Given the description of an element on the screen output the (x, y) to click on. 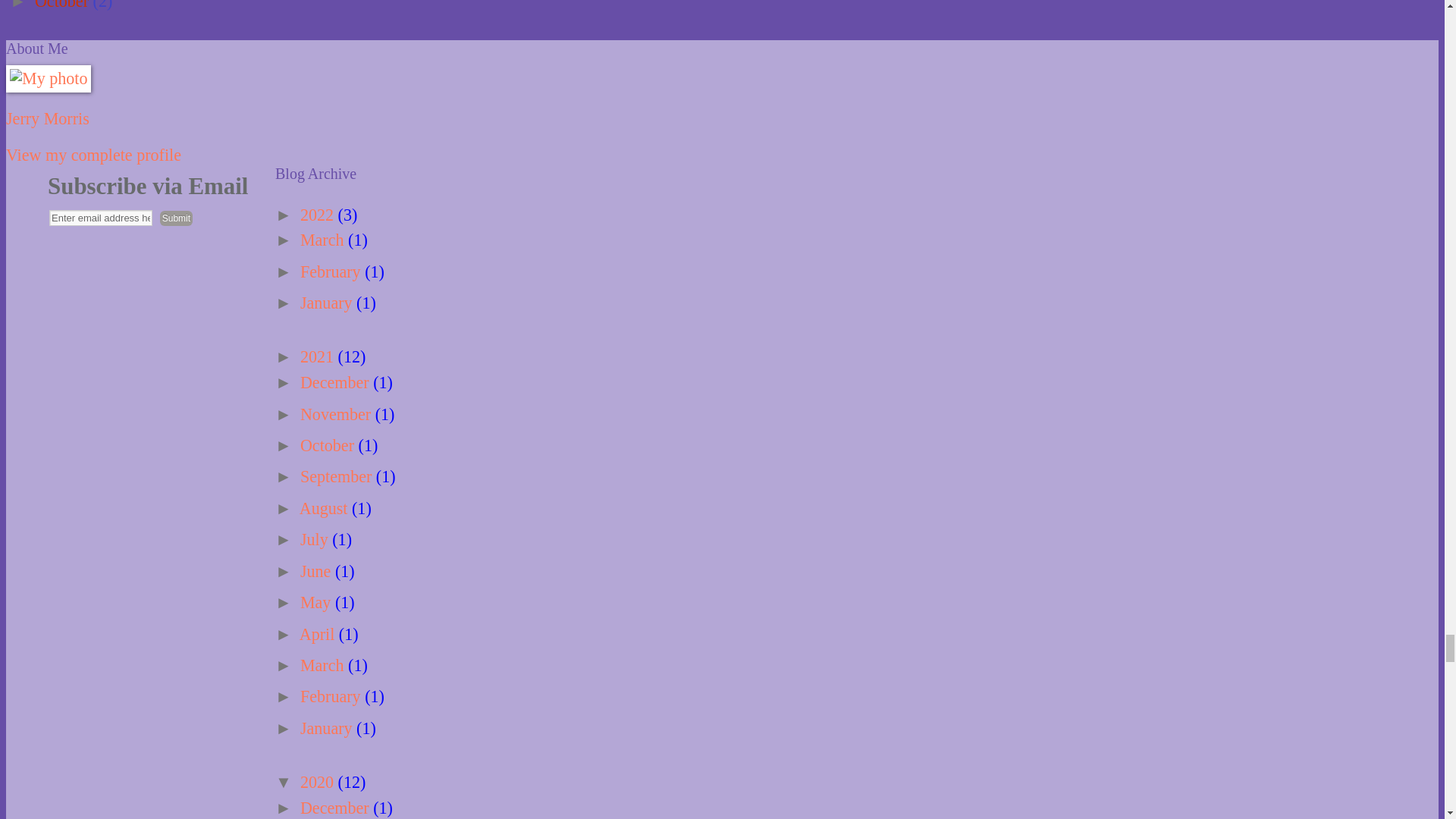
Enter email address here (100, 217)
Submit (176, 218)
